Given the description of an element on the screen output the (x, y) to click on. 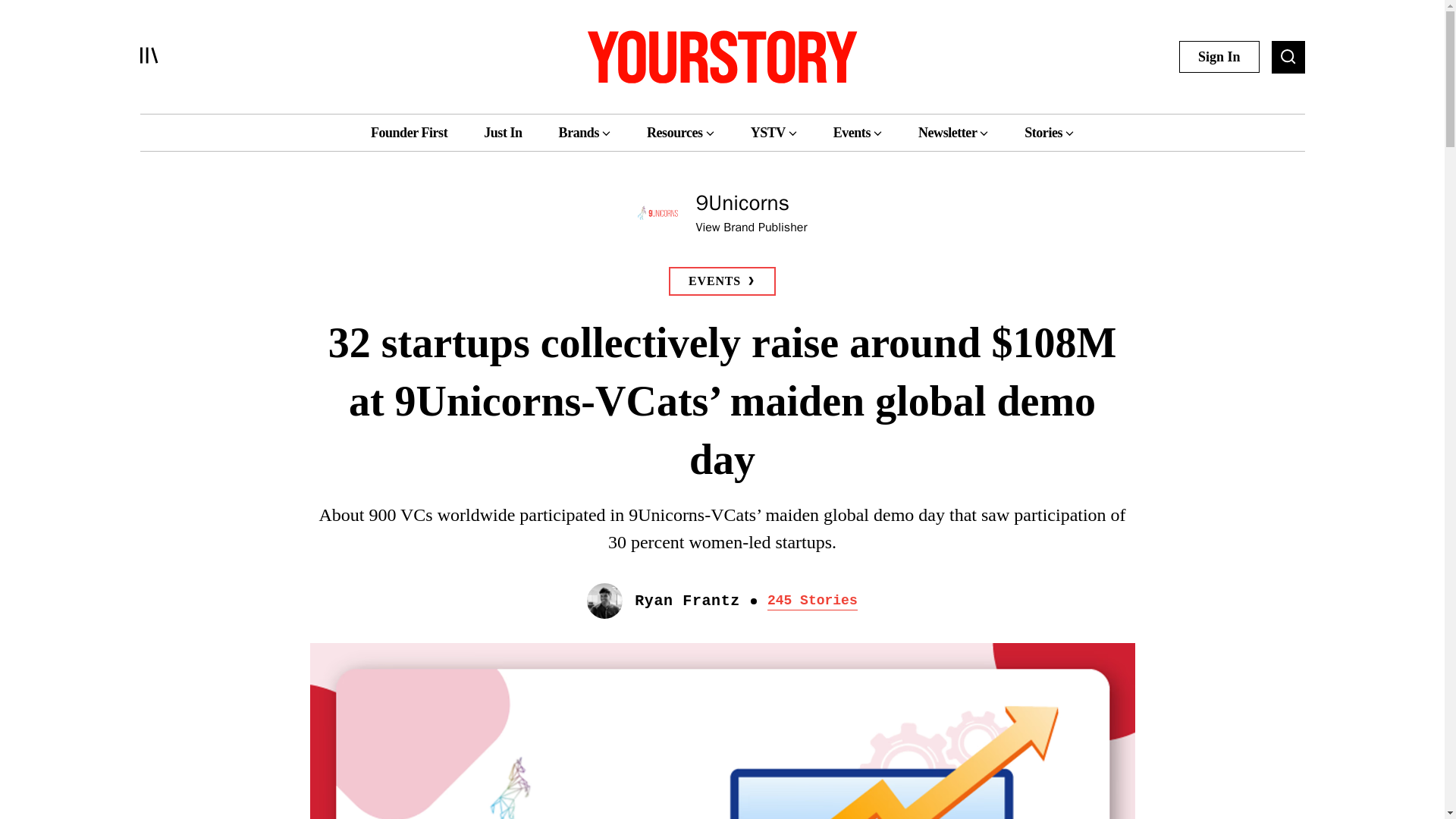
245 Stories (812, 600)
Just In (502, 132)
Founder First (408, 132)
View Brand Publisher (751, 227)
EVENTS (722, 280)
Ryan Frantz (686, 600)
